Given the description of an element on the screen output the (x, y) to click on. 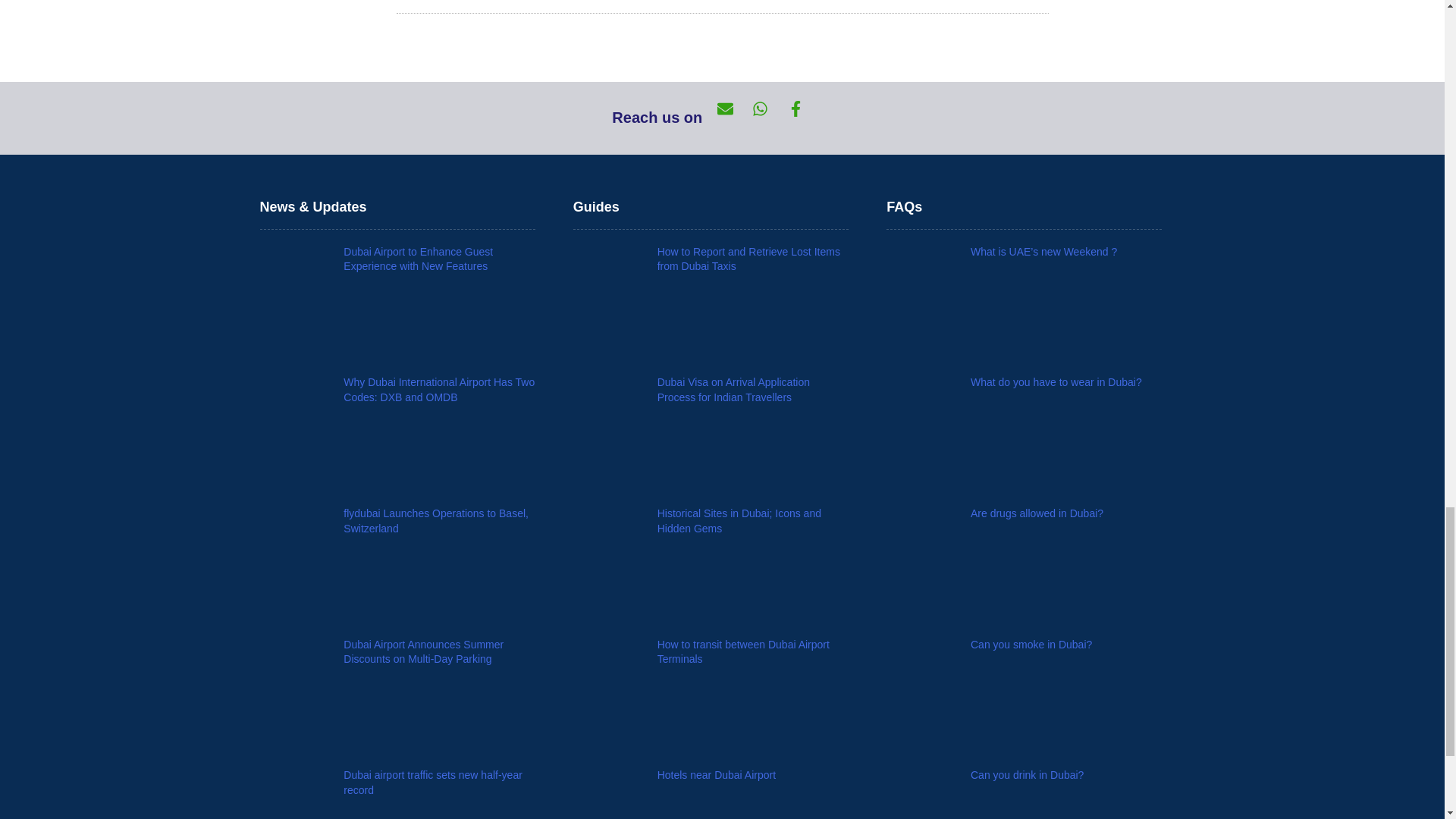
Whatsapp (769, 117)
Dubai Airport to Enhance Guest Experience with New Features (418, 258)
Why Dubai International Airport Has Two Codes: DXB and OMDB (438, 389)
Facebook-f (804, 117)
Envelope (734, 117)
